Given the description of an element on the screen output the (x, y) to click on. 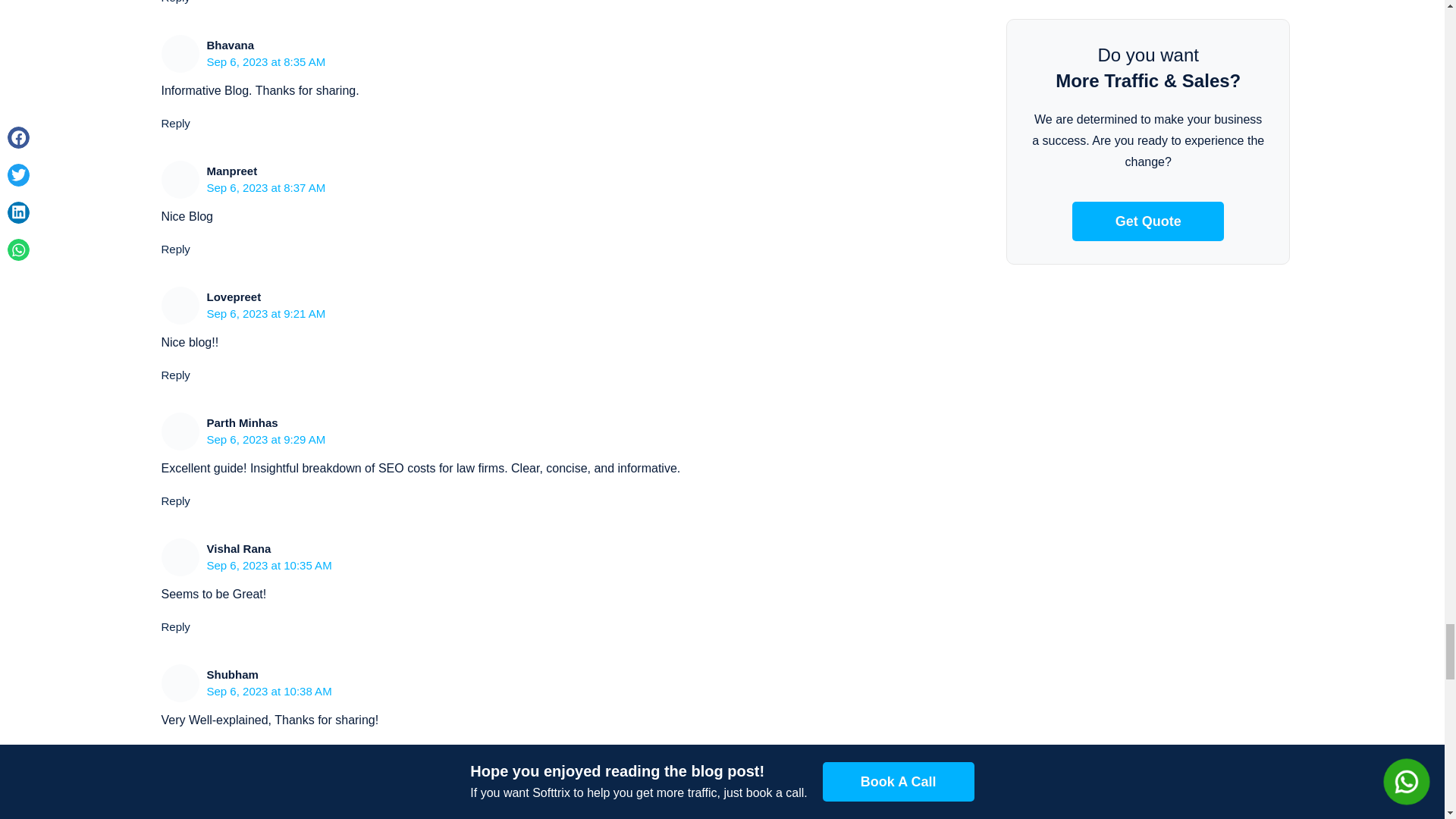
Reply (174, 2)
Reply (174, 752)
Reply (174, 500)
Reply (174, 248)
Reply (174, 374)
Reply (174, 123)
Reply (174, 626)
